Given the description of an element on the screen output the (x, y) to click on. 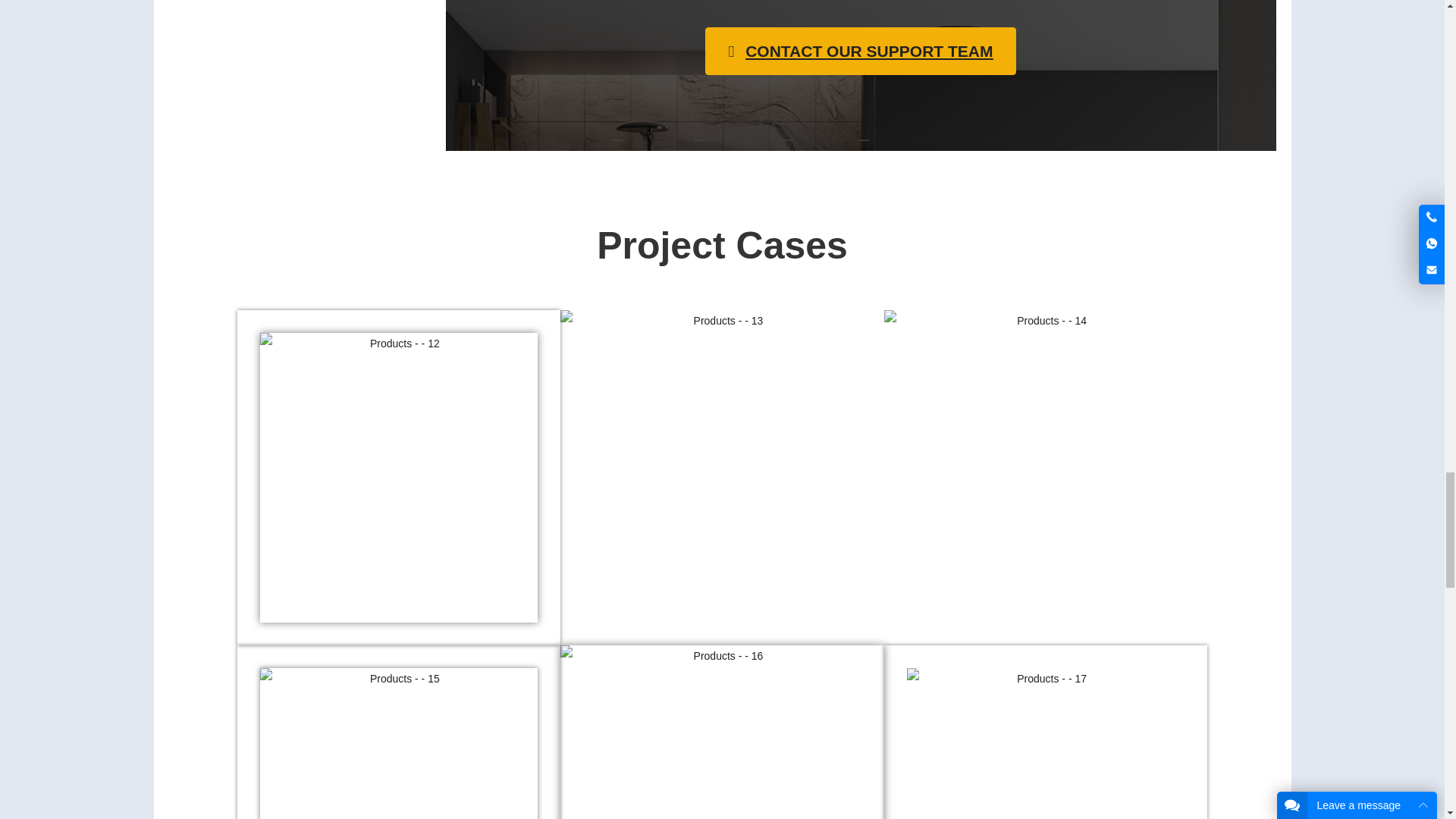
CONTACT OUR SUPPORT TEAM (860, 51)
